Given the description of an element on the screen output the (x, y) to click on. 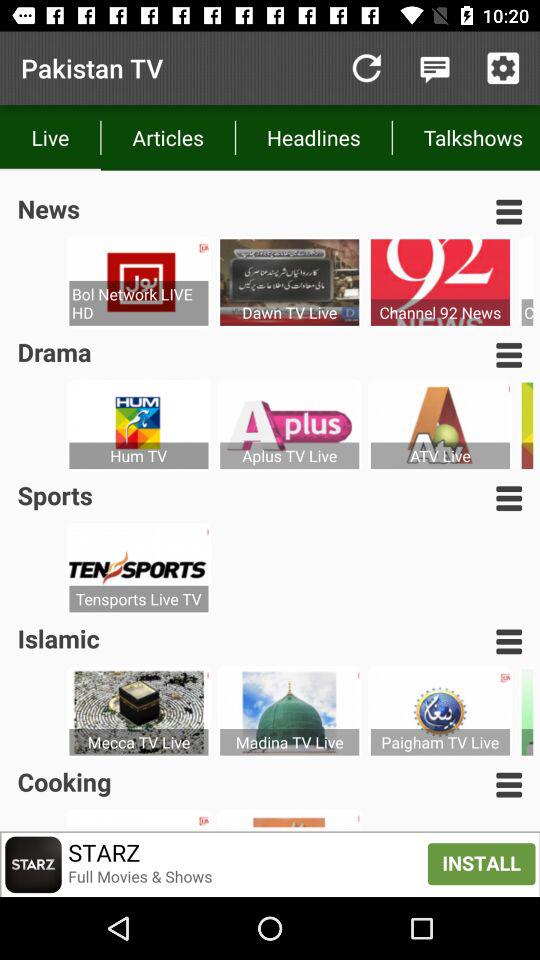
open icon next to the articles icon (313, 137)
